Given the description of an element on the screen output the (x, y) to click on. 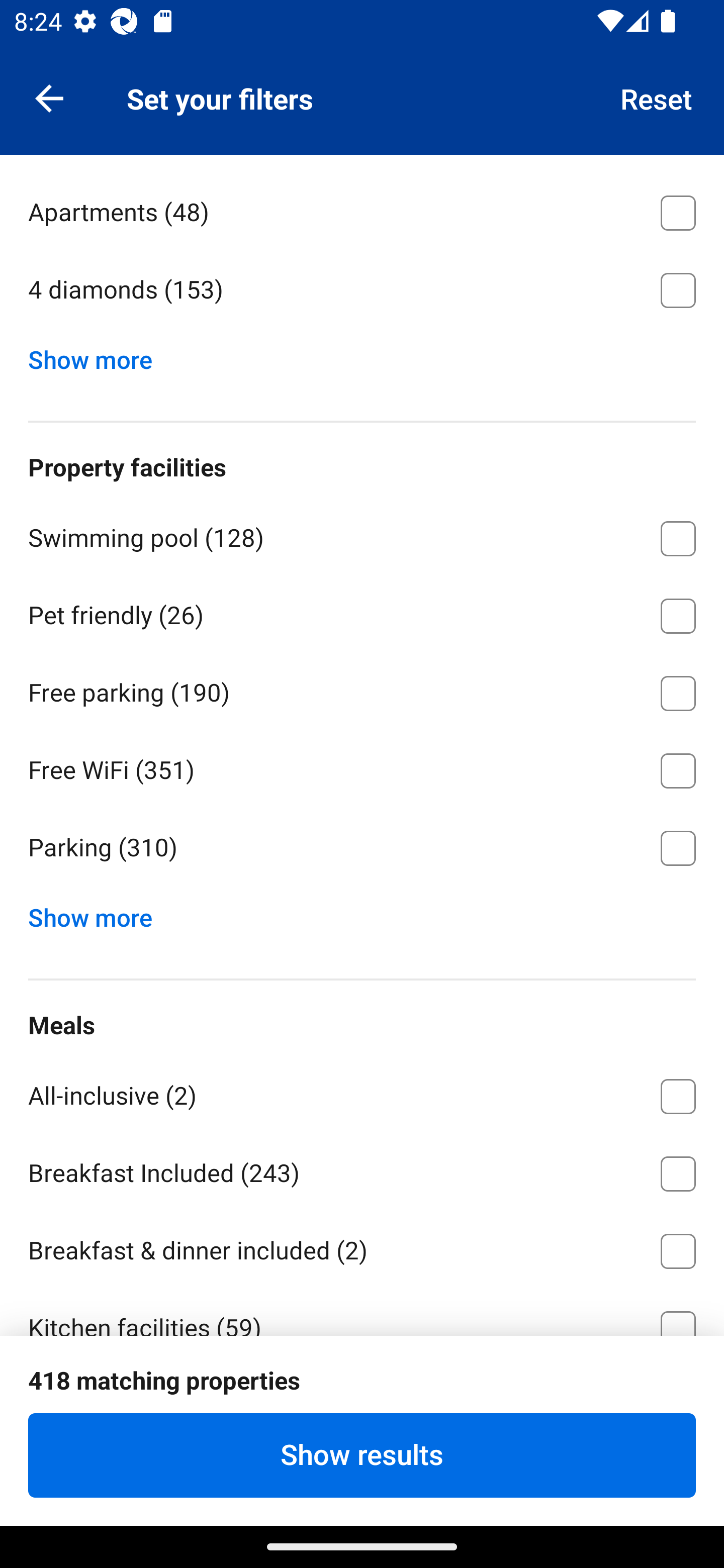
Navigate up (49, 97)
Reset (656, 97)
Apartments ⁦(48) (361, 208)
4 diamonds ⁦(153) (361, 289)
Show more (97, 355)
Swimming pool ⁦(128) (361, 535)
Pet friendly ⁦(26) (361, 611)
Free parking ⁦(190) (361, 689)
Free WiFi ⁦(351) (361, 767)
Parking ⁦(310) (361, 847)
Show more (97, 913)
All-inclusive ⁦(2) (361, 1092)
Breakfast Included ⁦(243) (361, 1170)
Breakfast & dinner included ⁦(2) (361, 1247)
Kitchen facilities ⁦(59) (361, 1311)
Show results (361, 1454)
